Given the description of an element on the screen output the (x, y) to click on. 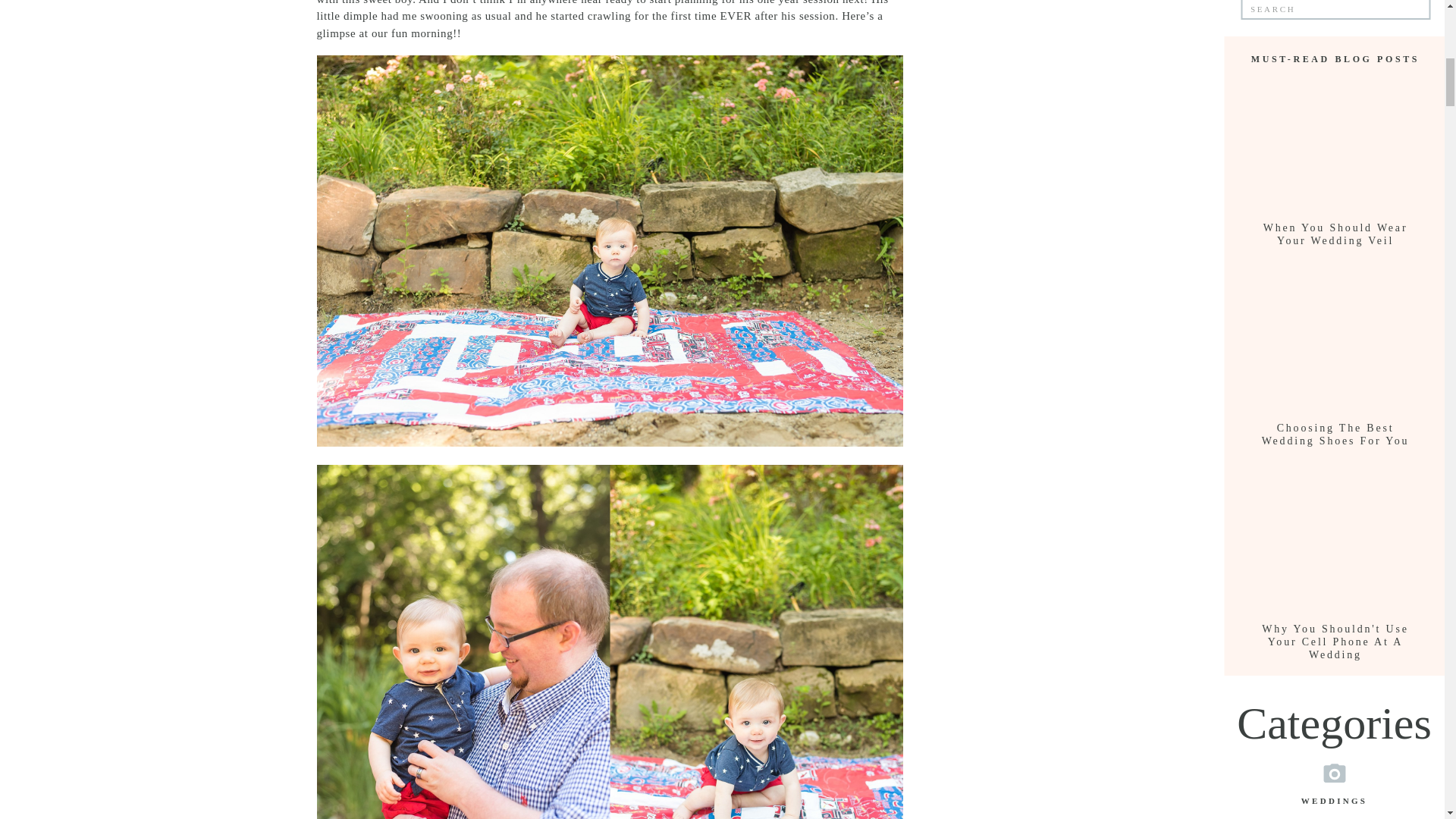
When You Should Wear Your Wedding Veil (1335, 234)
Why You Shouldn't Use Your Cell Phone At A Wedding (1335, 636)
WEDDINGS (1334, 800)
Choosing The Best Wedding Shoes For You (1335, 434)
